Given the description of an element on the screen output the (x, y) to click on. 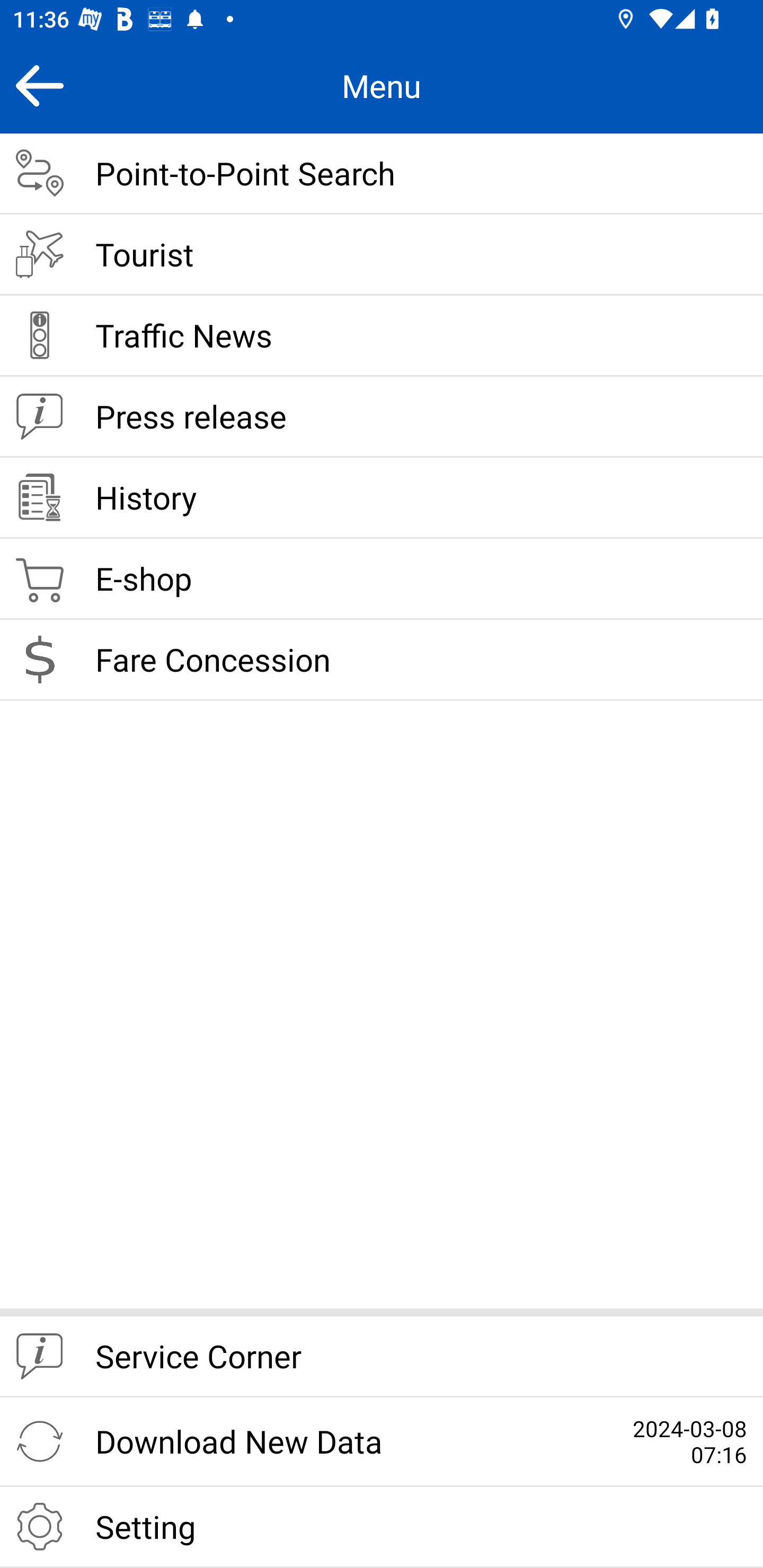
Back (39, 85)
Point-to-Point Search (381, 173)
Tourist (381, 255)
Traffic News (381, 336)
Press release (381, 416)
History (381, 498)
E-shop (381, 579)
Fare Concession (381, 659)
Service Corner (381, 1357)
Download New Data 2024-03-08
07:16 (381, 1441)
Setting (381, 1527)
